Given the description of an element on the screen output the (x, y) to click on. 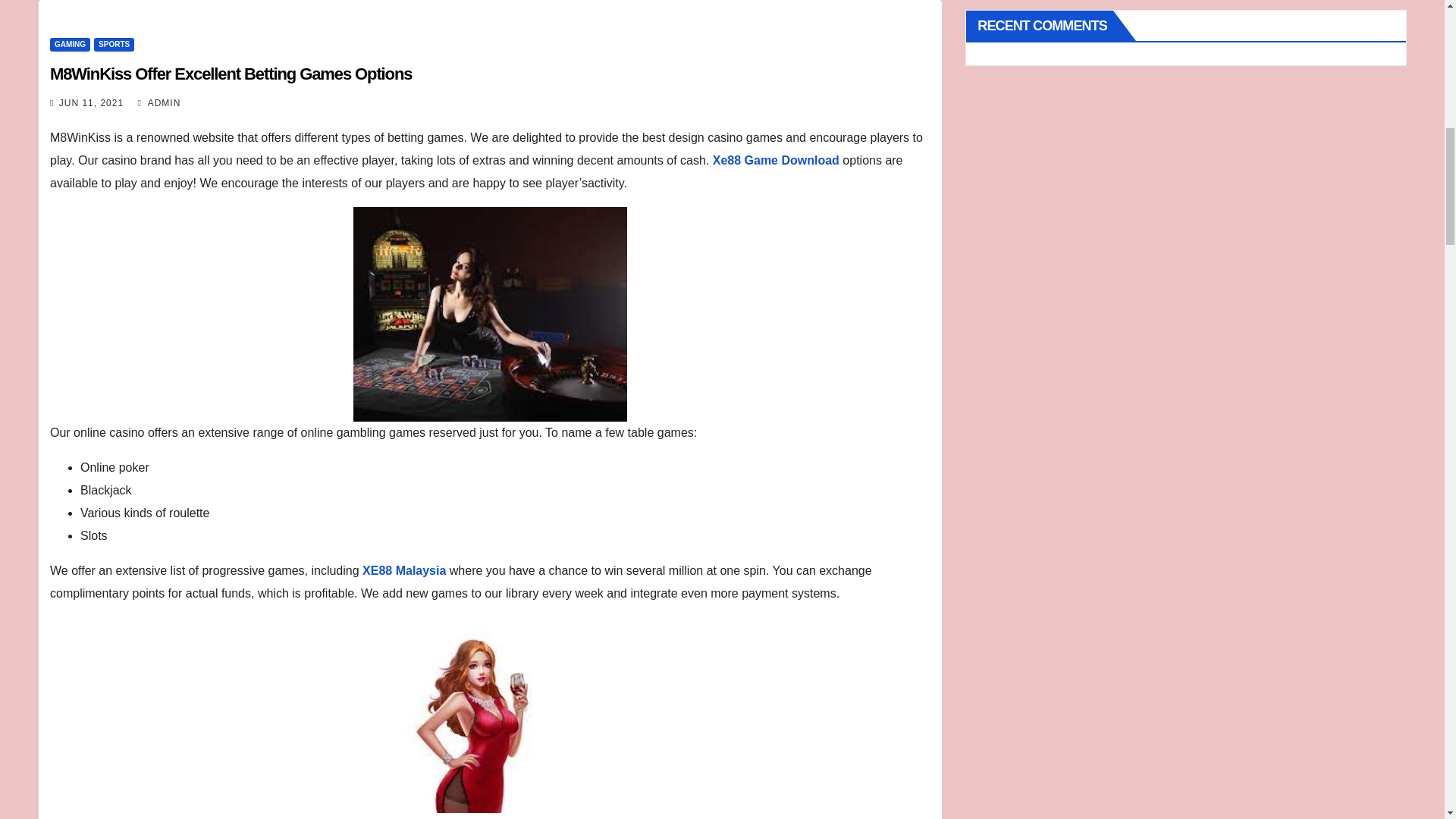
M8WinKiss Offer Excellent Betting Games Options (230, 73)
GAMING (69, 44)
SPORTS (113, 44)
ADMIN (159, 102)
JUN 11, 2021 (91, 102)
Xe88 Login (831, 818)
Xe88 Game Download (776, 160)
XE88 Malaysia (403, 570)
